Given the description of an element on the screen output the (x, y) to click on. 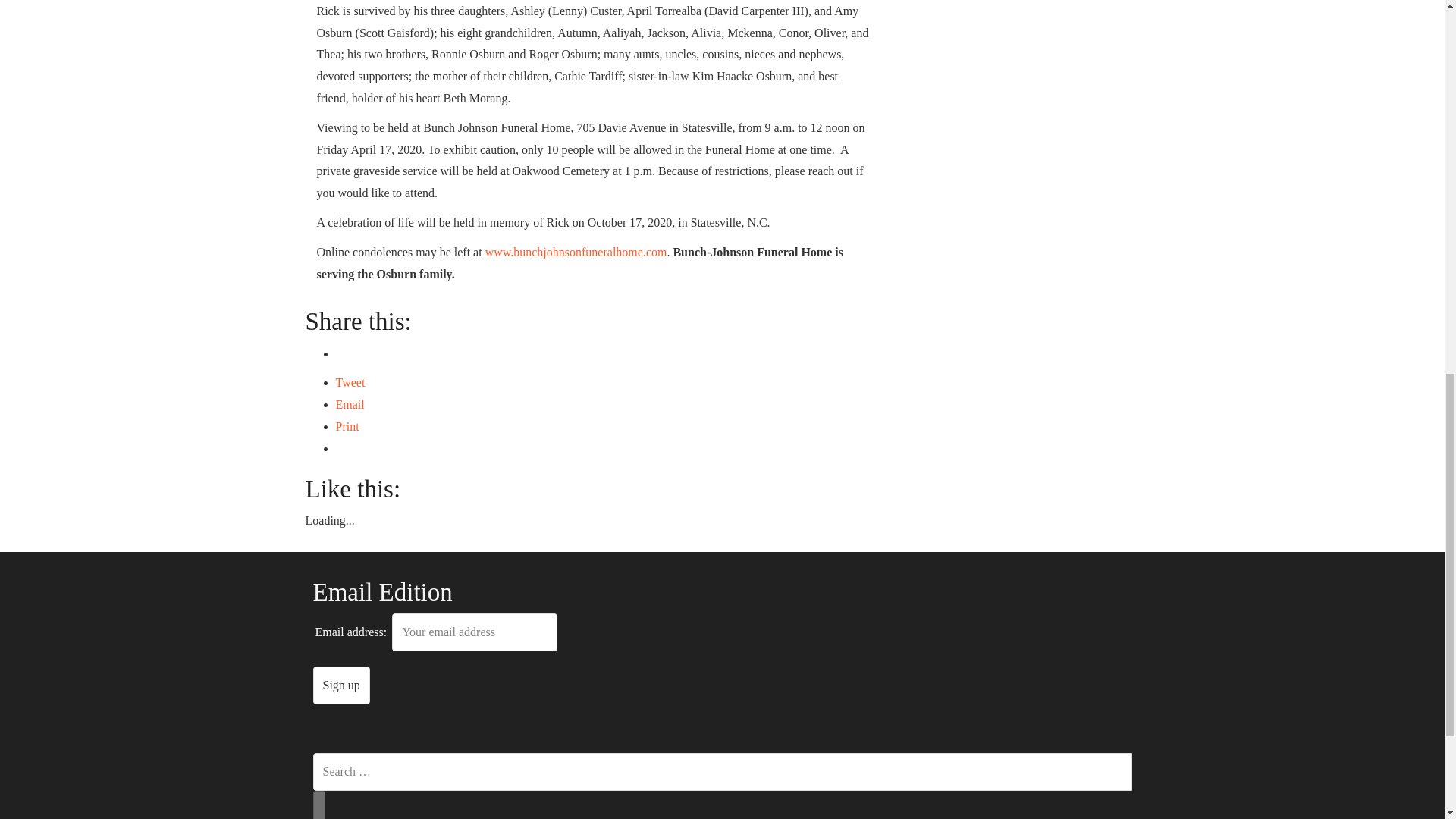
Tweet (349, 382)
Sign up (341, 685)
Click to email a link to a friend (349, 404)
Click to print (346, 426)
Print (346, 426)
www.bunchjohnsonfuneralhome.com (573, 251)
Sign up (341, 685)
Email (349, 404)
